Given the description of an element on the screen output the (x, y) to click on. 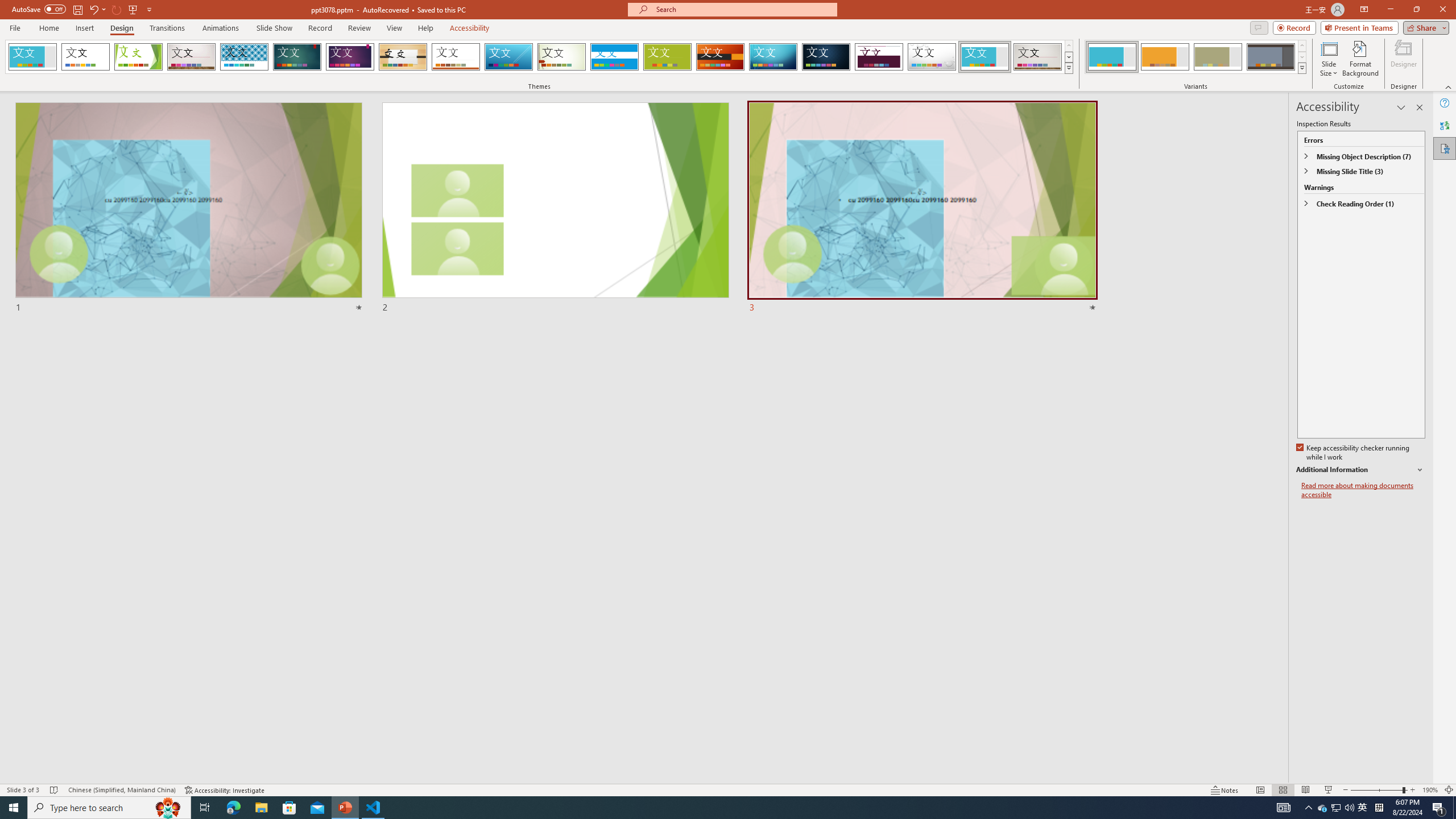
Frame Variant 3 (1217, 56)
Zoom 190% (1430, 790)
Organic (403, 56)
Frame Variant 1 (1112, 56)
Droplet (931, 56)
Damask (826, 56)
